Given the description of an element on the screen output the (x, y) to click on. 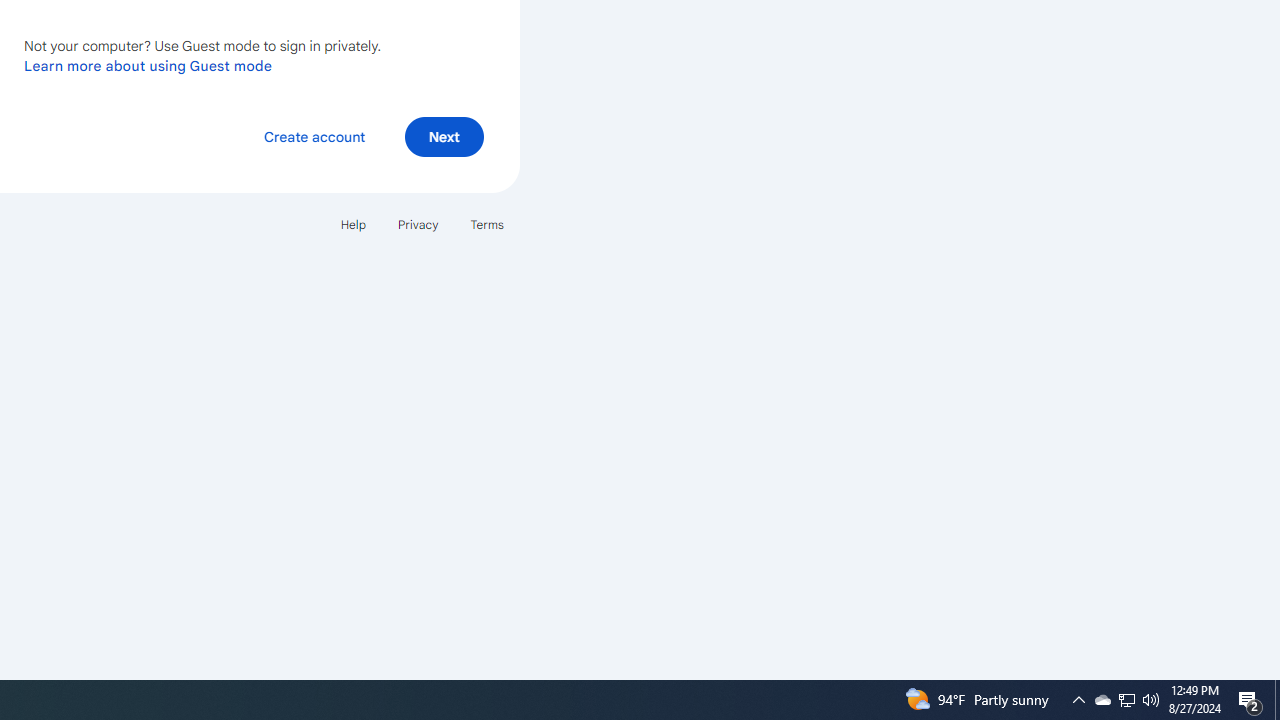
Learn more about using Guest mode (148, 65)
Create account (314, 135)
